Given the description of an element on the screen output the (x, y) to click on. 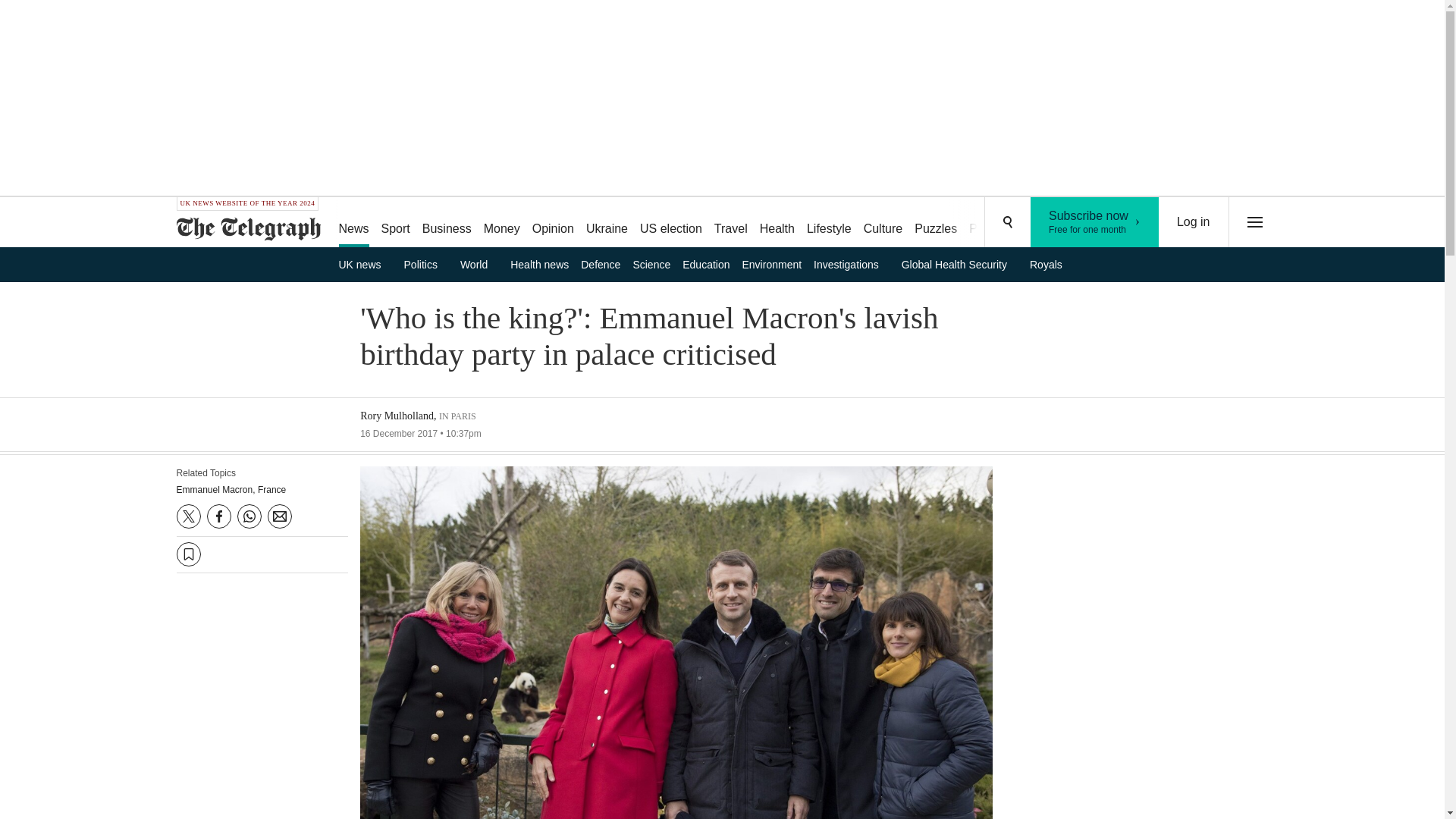
Money (501, 223)
Opinion (552, 223)
Culture (882, 223)
Health (777, 223)
Log in (1193, 222)
Politics (425, 264)
Business (446, 223)
Lifestyle (828, 223)
UK news (364, 264)
US election (670, 223)
